Given the description of an element on the screen output the (x, y) to click on. 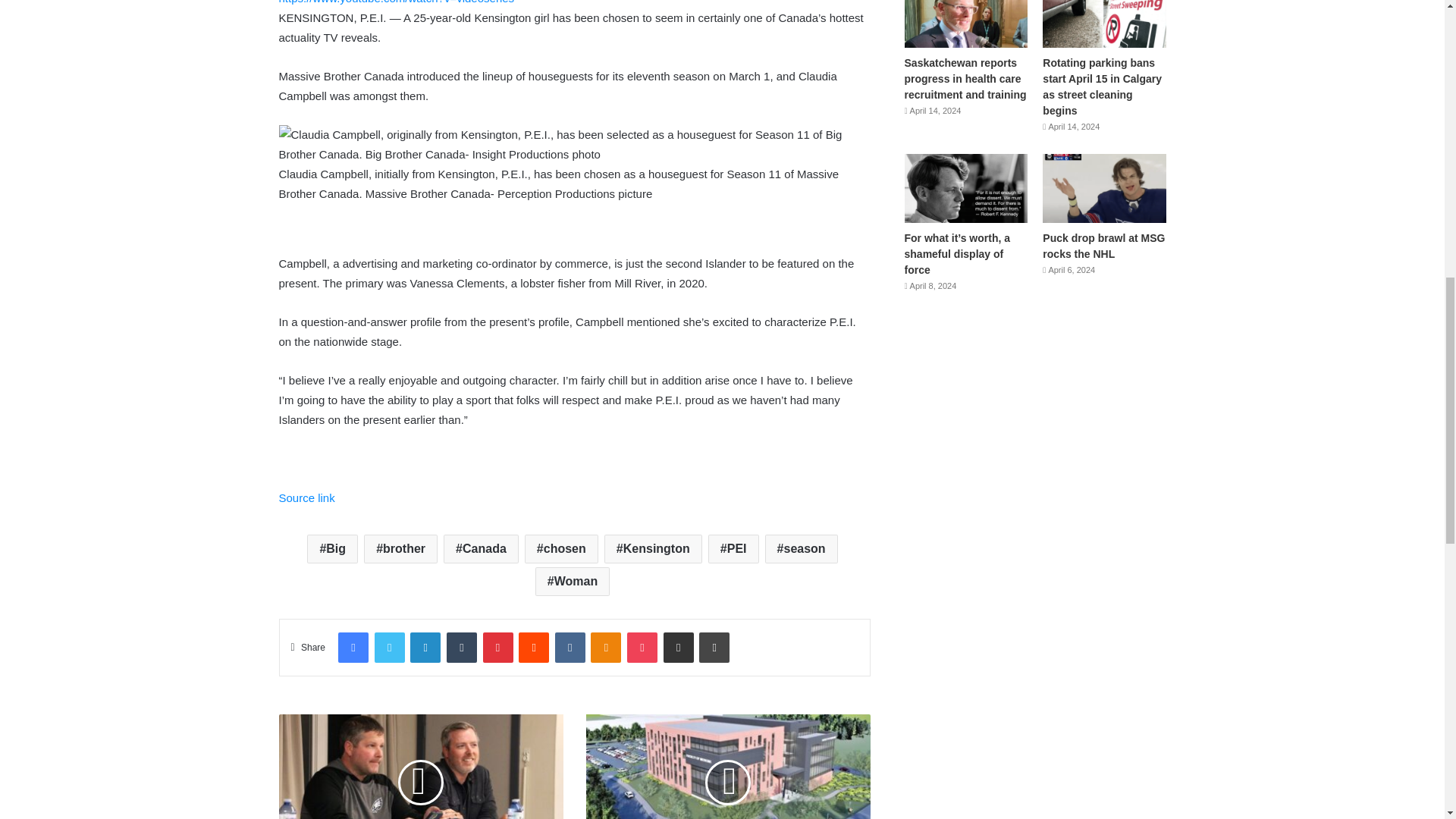
Kensington (652, 548)
Canada (481, 548)
Big (332, 548)
brother (401, 548)
chosen (561, 548)
Source link (306, 497)
PEI (732, 548)
